Given the description of an element on the screen output the (x, y) to click on. 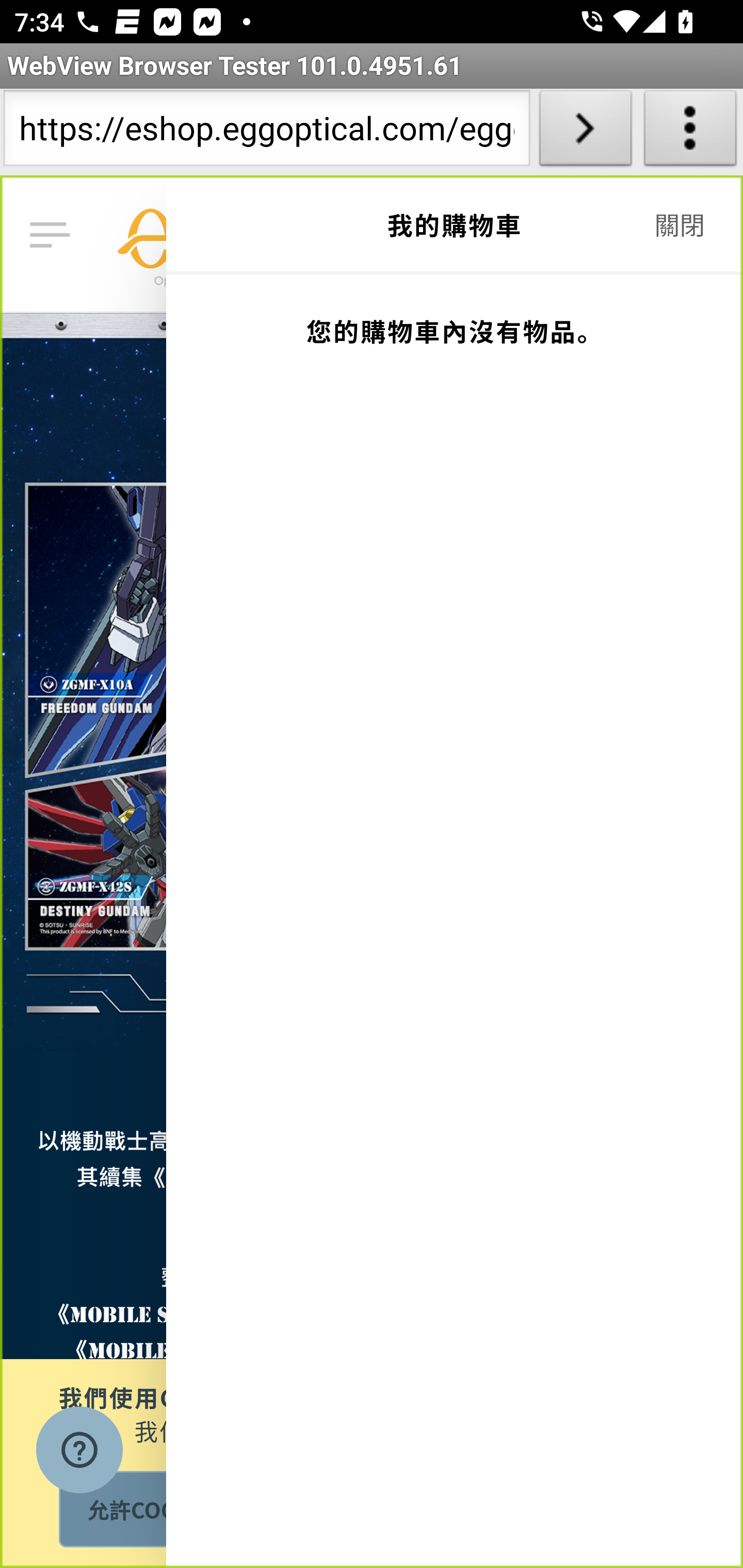
Load URL (585, 132)
About WebView (690, 132)
切換導航 (54, 235)
Opens a widget where you can find more information (79, 1452)
